Given the description of an element on the screen output the (x, y) to click on. 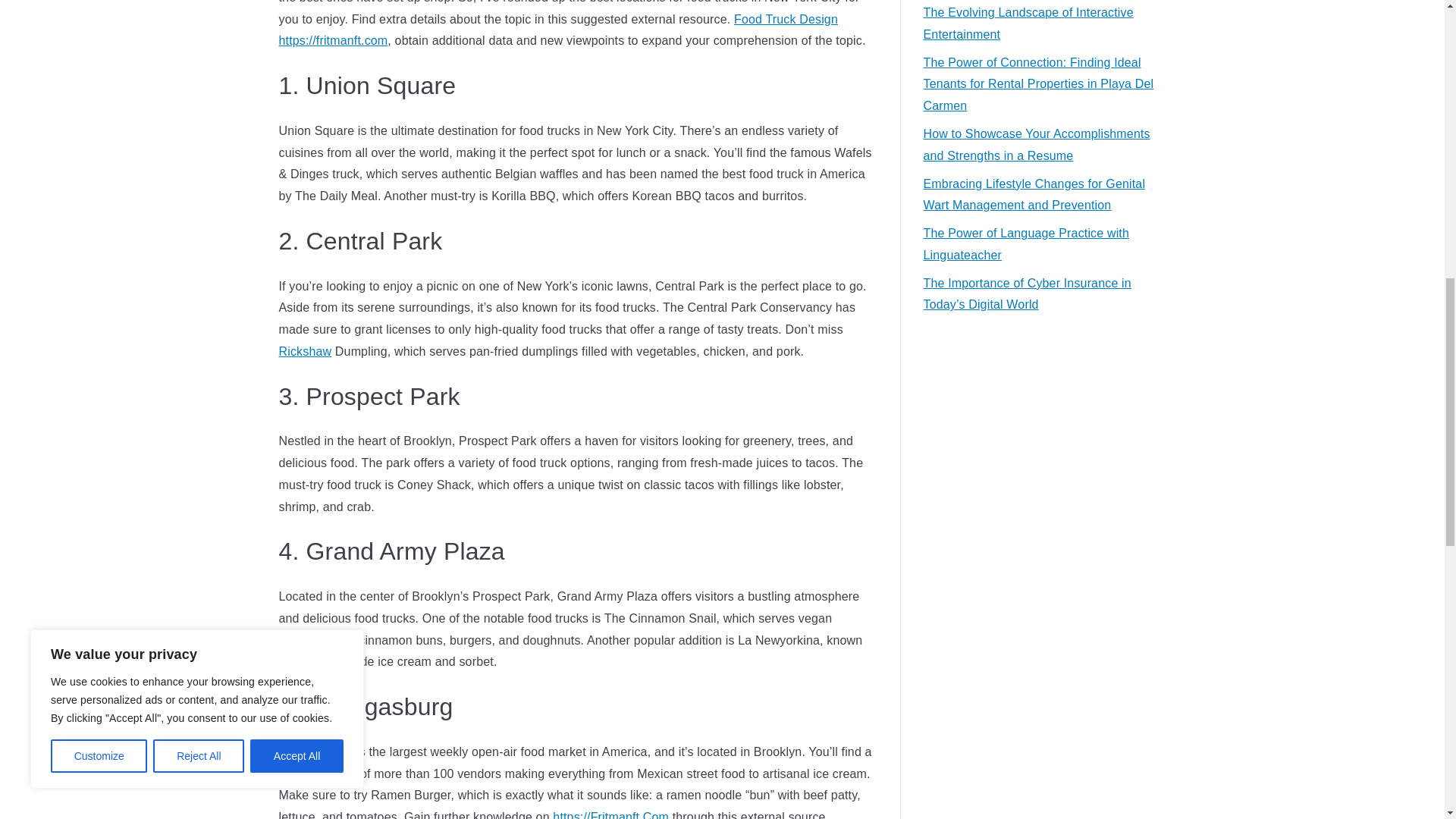
Rickshaw (305, 350)
